Given the description of an element on the screen output the (x, y) to click on. 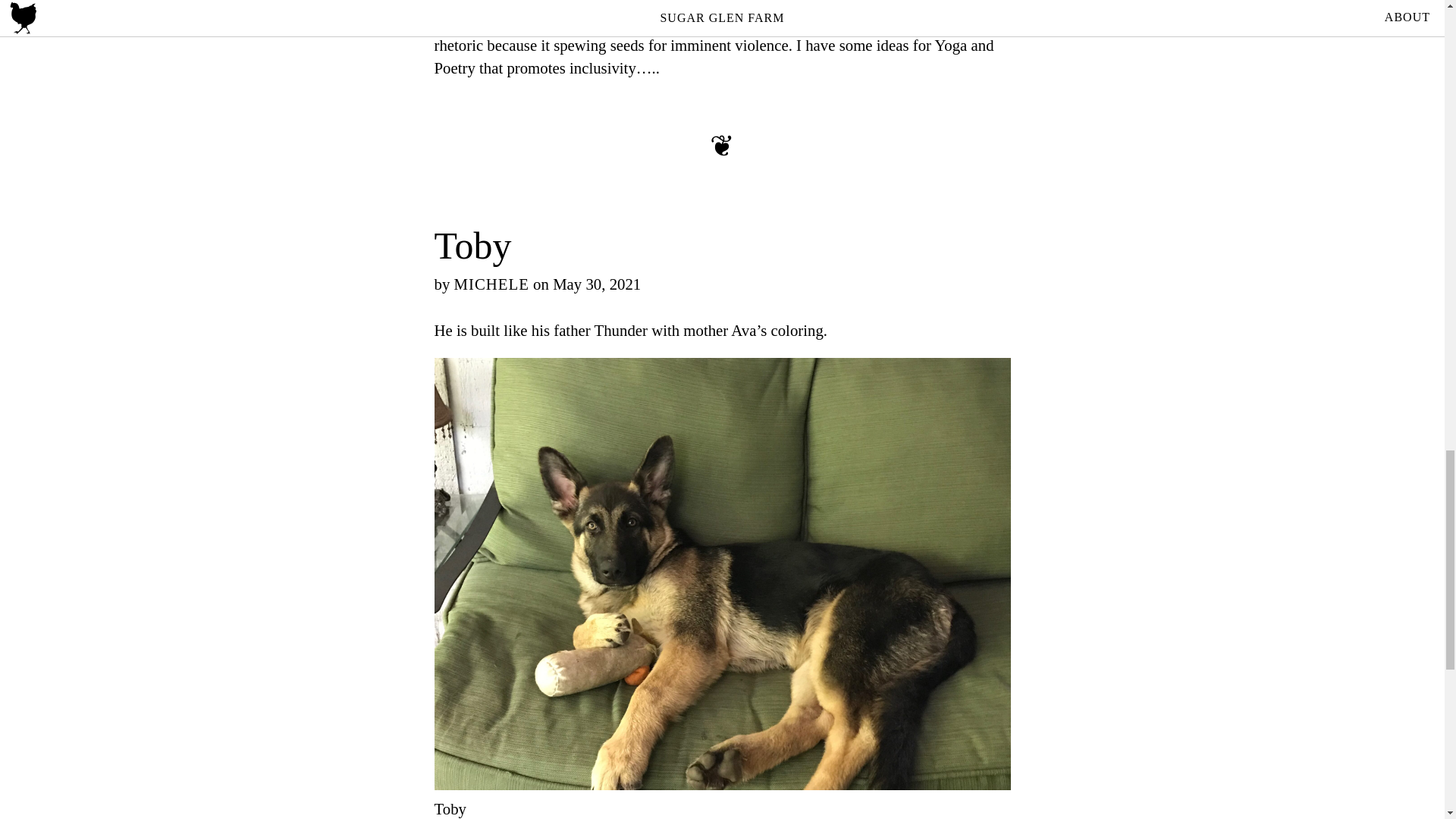
Toby (472, 245)
